Given the description of an element on the screen output the (x, y) to click on. 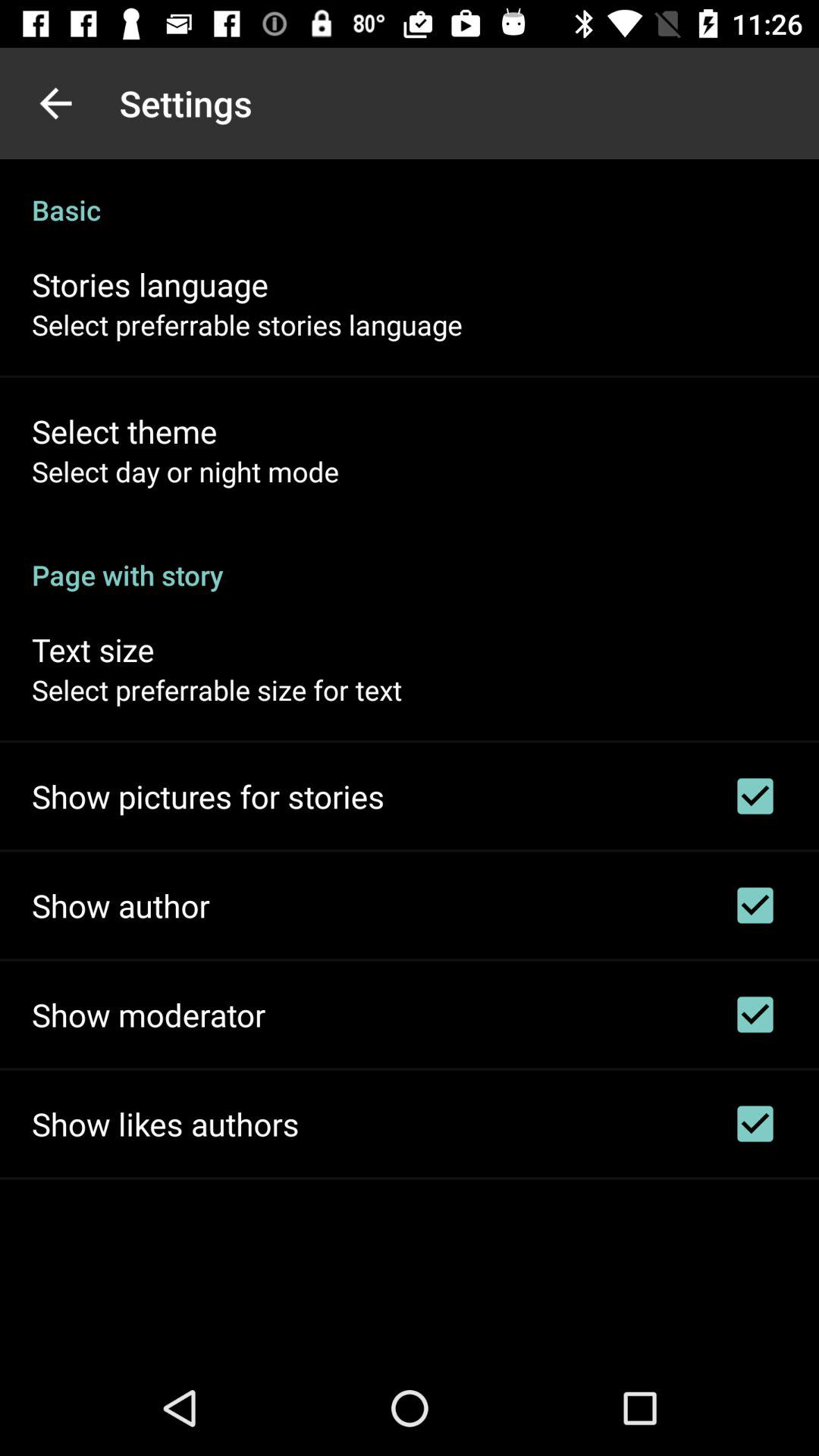
launch the icon above basic icon (55, 103)
